Given the description of an element on the screen output the (x, y) to click on. 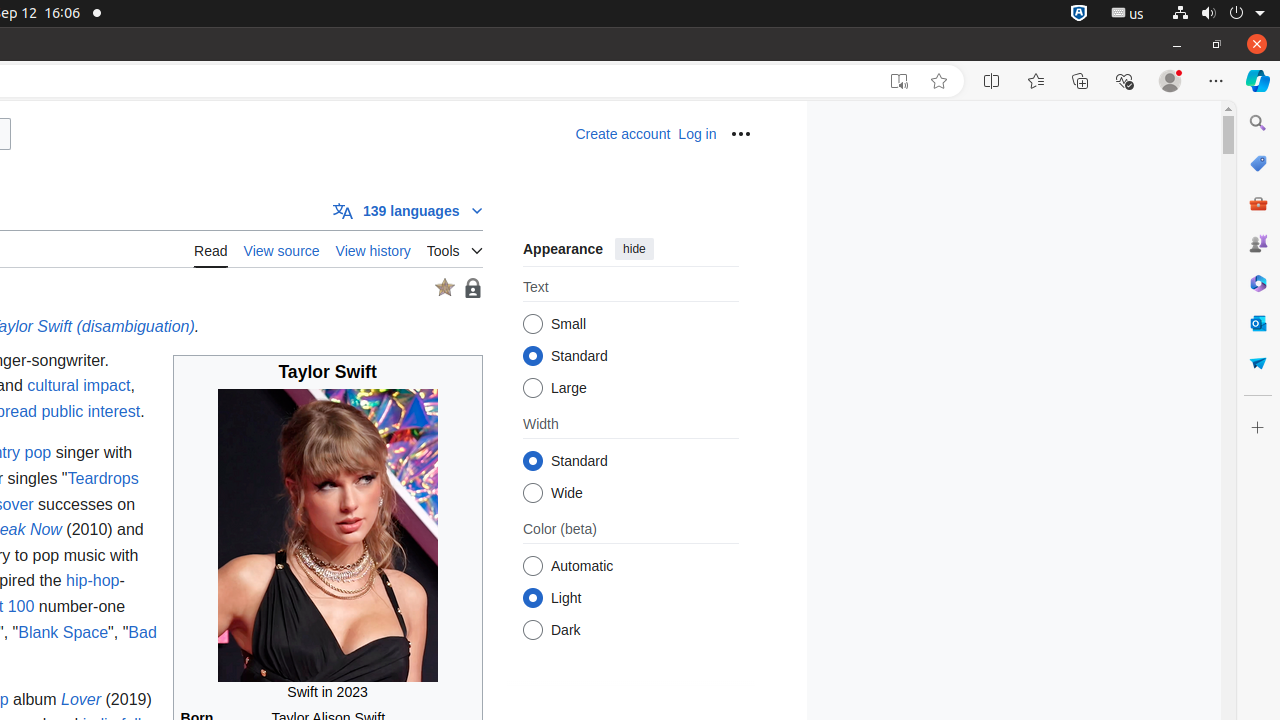
Blank Space Element type: link (63, 632)
Copilot (Ctrl+Shift+.) Element type: push-button (1258, 81)
Microsoft Shopping Element type: push-button (1258, 163)
Personal tools Element type: push-button (740, 134)
Outlook Element type: push-button (1258, 323)
